Given the description of an element on the screen output the (x, y) to click on. 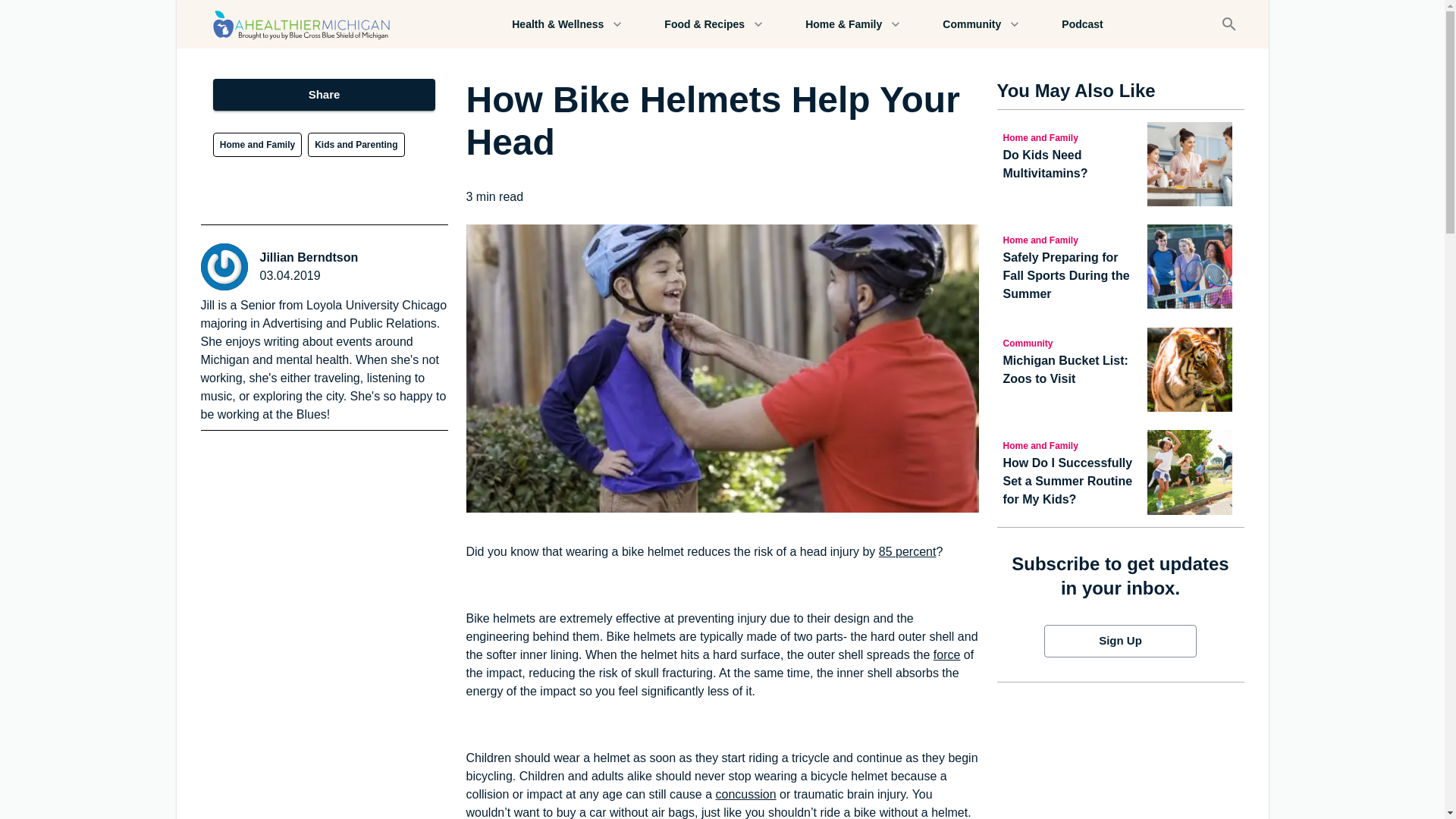
Michigan Bucket List: Zoos to Visit (1072, 370)
Home and Family (1072, 444)
Community (1072, 342)
concussion (746, 793)
85 percent (907, 551)
Safely Preparing for Fall Sports During the Summer (1072, 275)
Home and Family (1072, 136)
Jillian Berndtson (308, 257)
Home and Family (1072, 239)
Sign Up (1119, 640)
force (946, 654)
Share (323, 94)
Community (980, 24)
Kids and Parenting (355, 144)
Home and Family (256, 144)
